Given the description of an element on the screen output the (x, y) to click on. 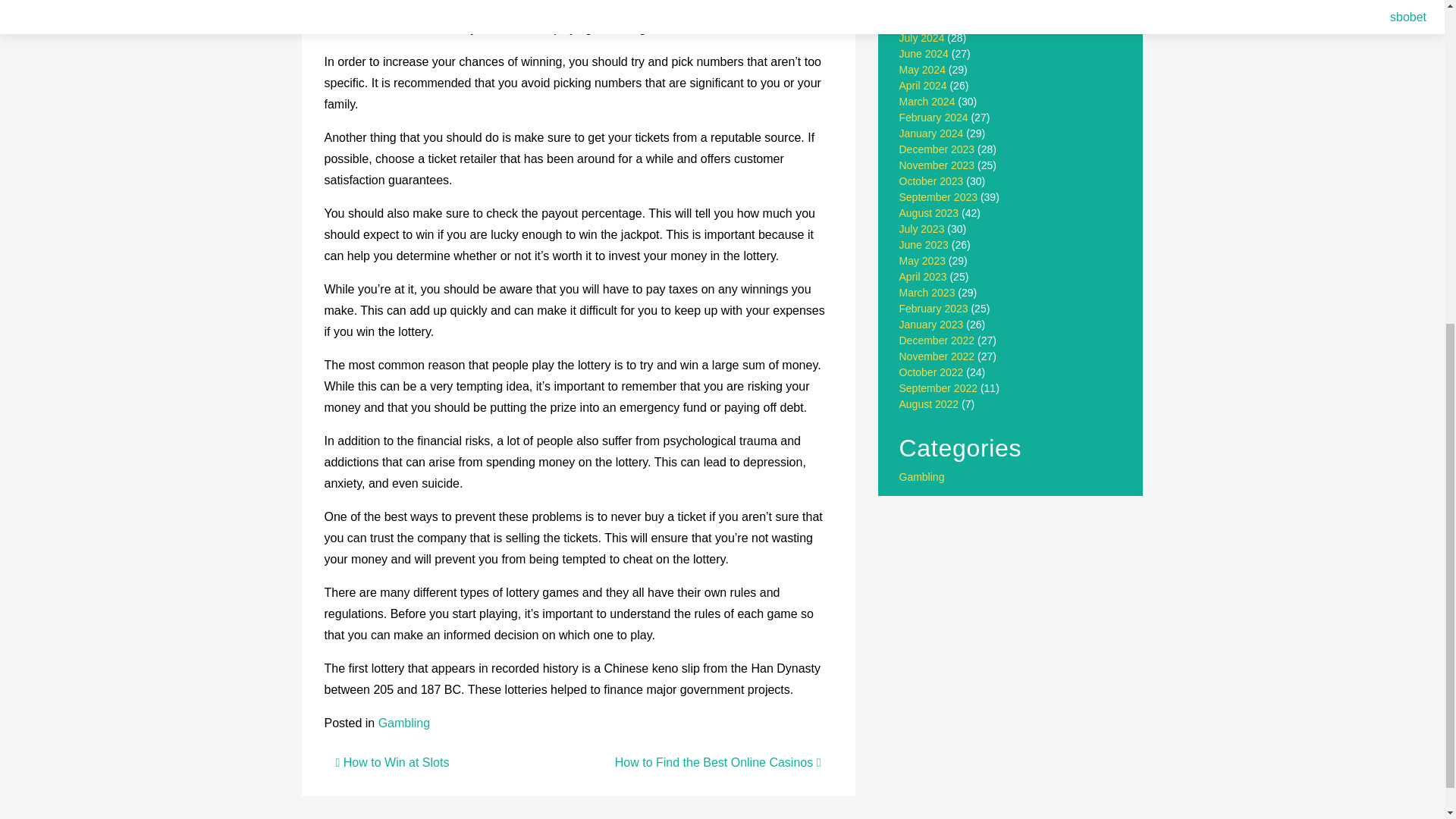
October 2022 (931, 372)
Gambling (921, 476)
November 2022 (937, 356)
February 2024 (933, 117)
November 2023 (937, 164)
June 2024 (924, 53)
October 2023 (931, 181)
March 2023 (927, 292)
September 2022 (938, 387)
January 2024 (931, 133)
